Given the description of an element on the screen output the (x, y) to click on. 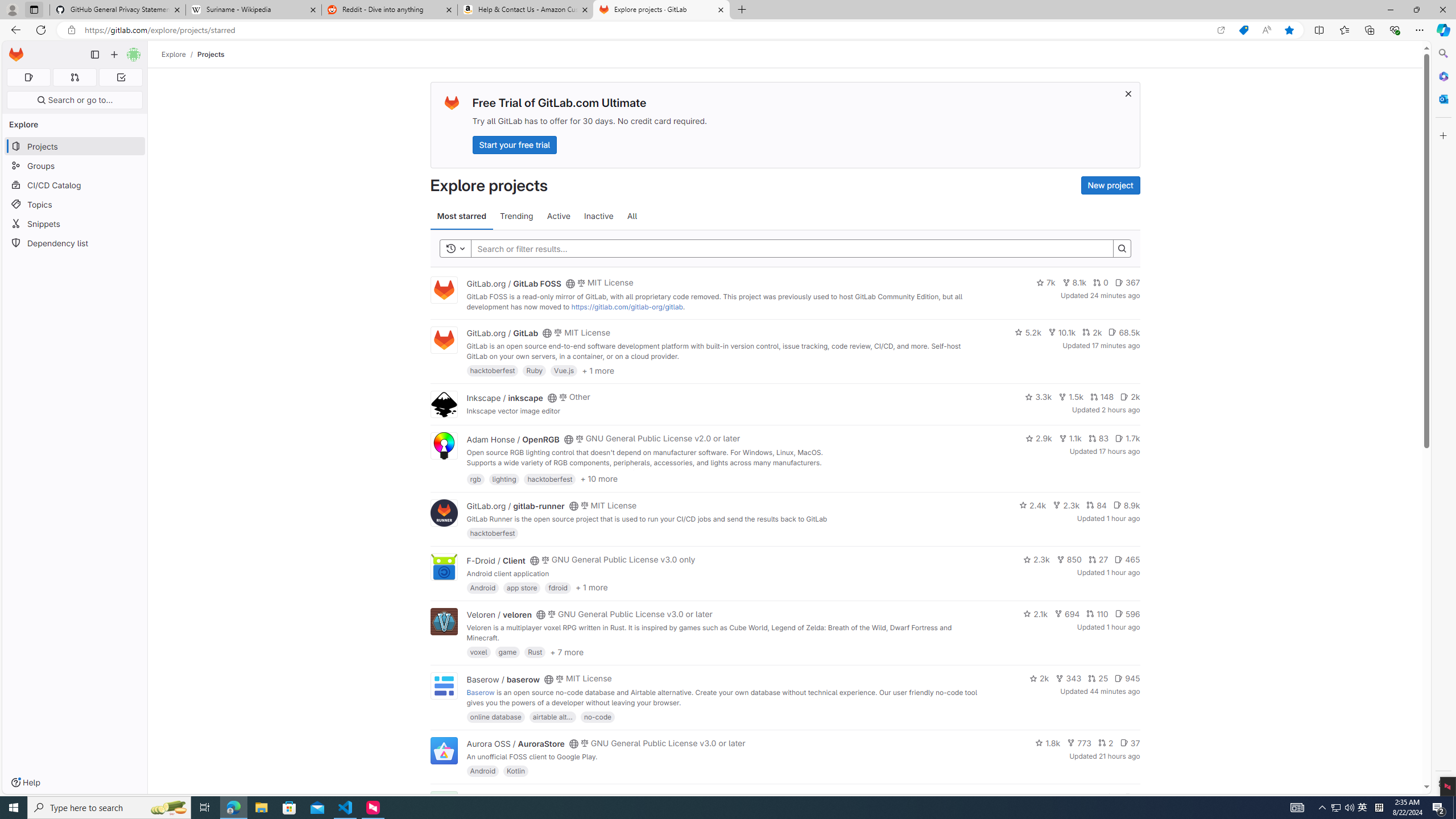
2.1k (1035, 613)
Merge requests 0 (74, 76)
Primary navigation sidebar (94, 54)
Projects (211, 53)
Help & Contact Us - Amazon Customer Service (525, 9)
online database (495, 715)
+ 10 more (599, 478)
All (632, 216)
Groups (74, 165)
CI/CD Catalog (74, 185)
8.1k (1073, 282)
Snippets (74, 223)
7k (1045, 282)
2.9k (1038, 438)
